Given the description of an element on the screen output the (x, y) to click on. 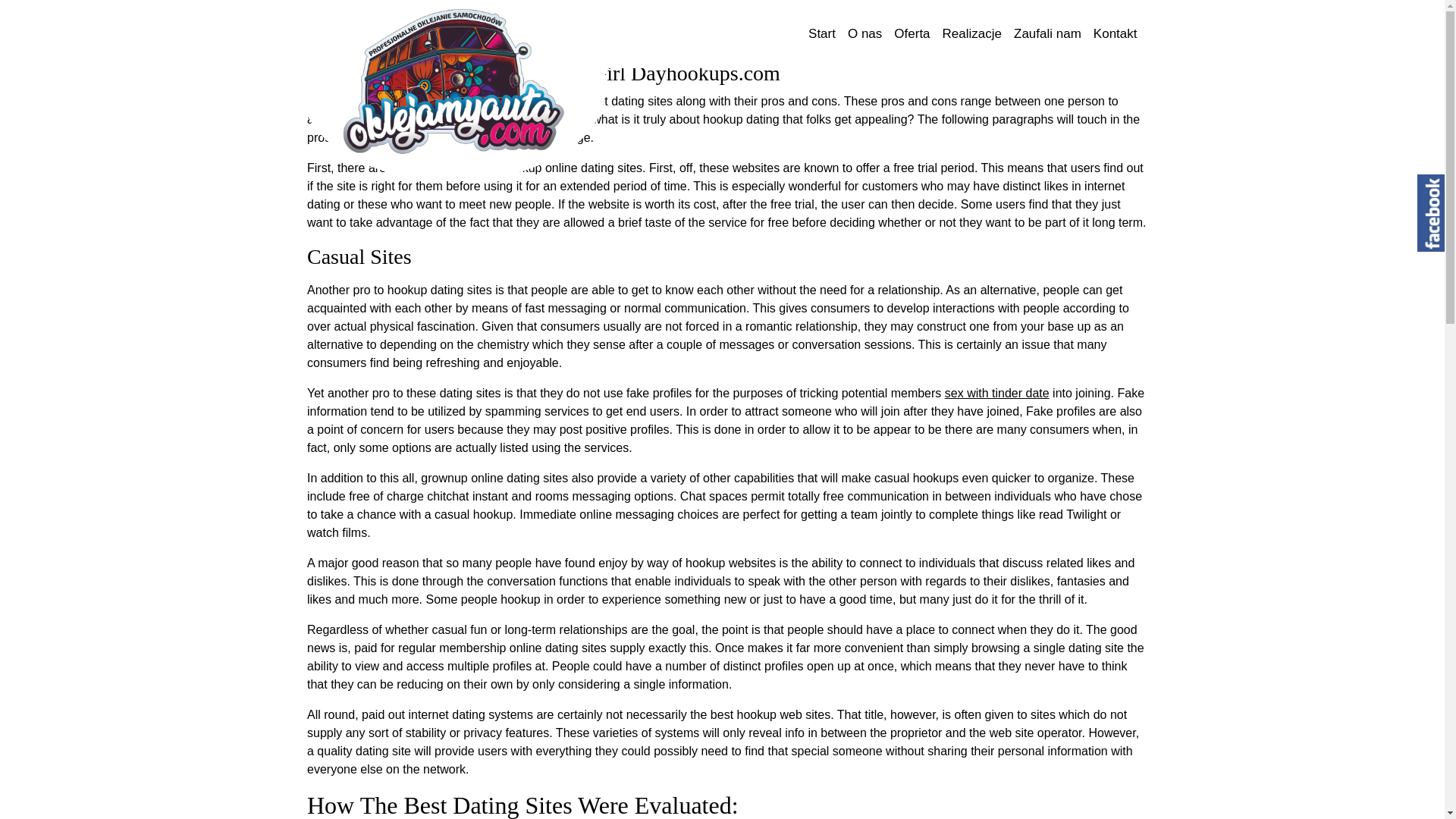
Start (821, 33)
Realizacje (971, 33)
O nas (864, 33)
Kontakt (1114, 33)
Zaufali nam (1047, 33)
Oferta (912, 33)
sex with tinder date (996, 392)
